Given the description of an element on the screen output the (x, y) to click on. 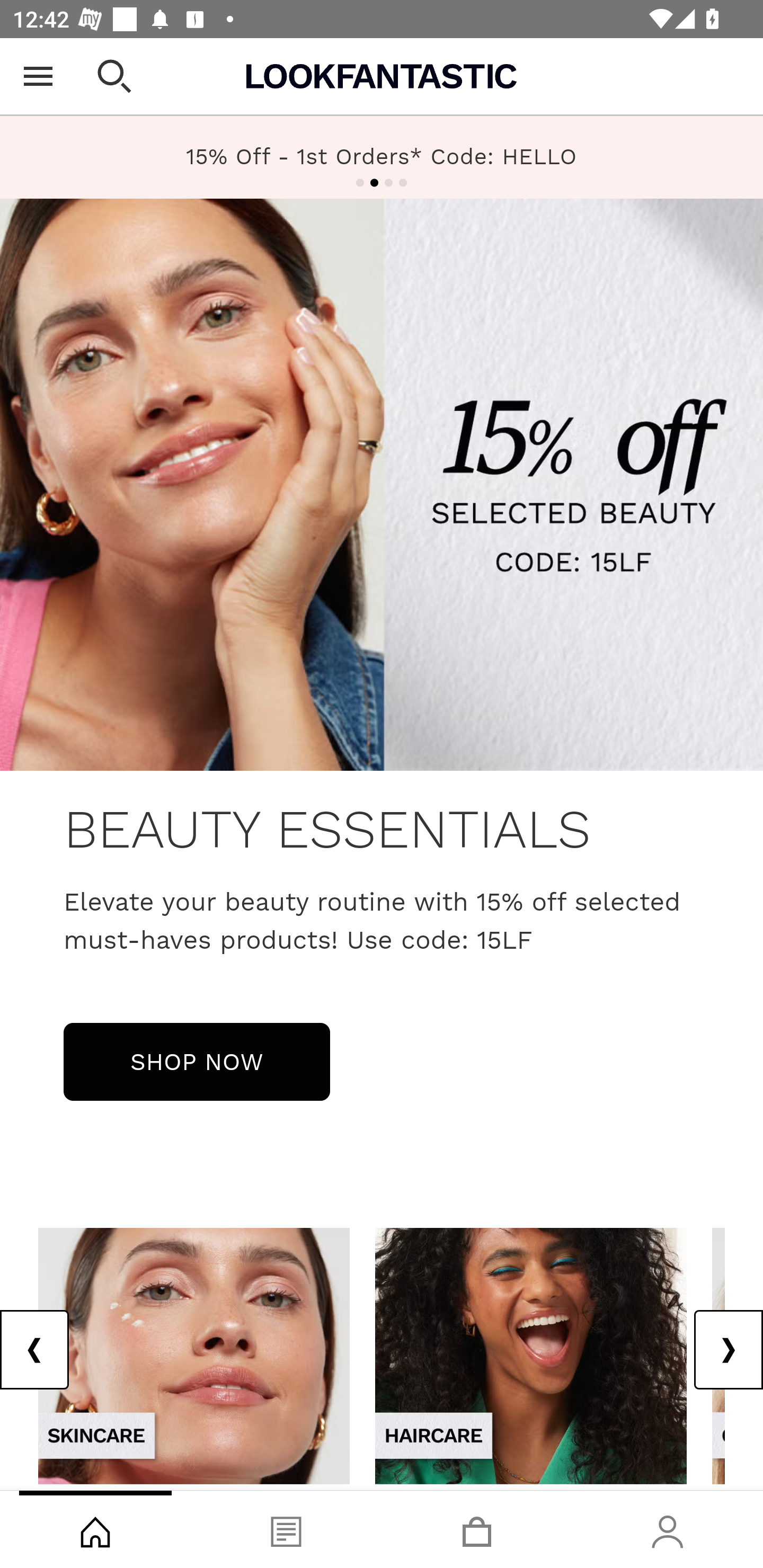
Open Menu (38, 75)
Open search (114, 75)
Lookfantastic USA (381, 75)
FREE US Shipping Over $40 (381, 157)
SHOP NOW (196, 1061)
view-all (193, 1355)
view-all (530, 1355)
Previous (35, 1349)
Next (727, 1349)
Shop, tab, 1 of 4 (95, 1529)
Blog, tab, 2 of 4 (285, 1529)
Basket, tab, 3 of 4 (476, 1529)
Account, tab, 4 of 4 (667, 1529)
